Given the description of an element on the screen output the (x, y) to click on. 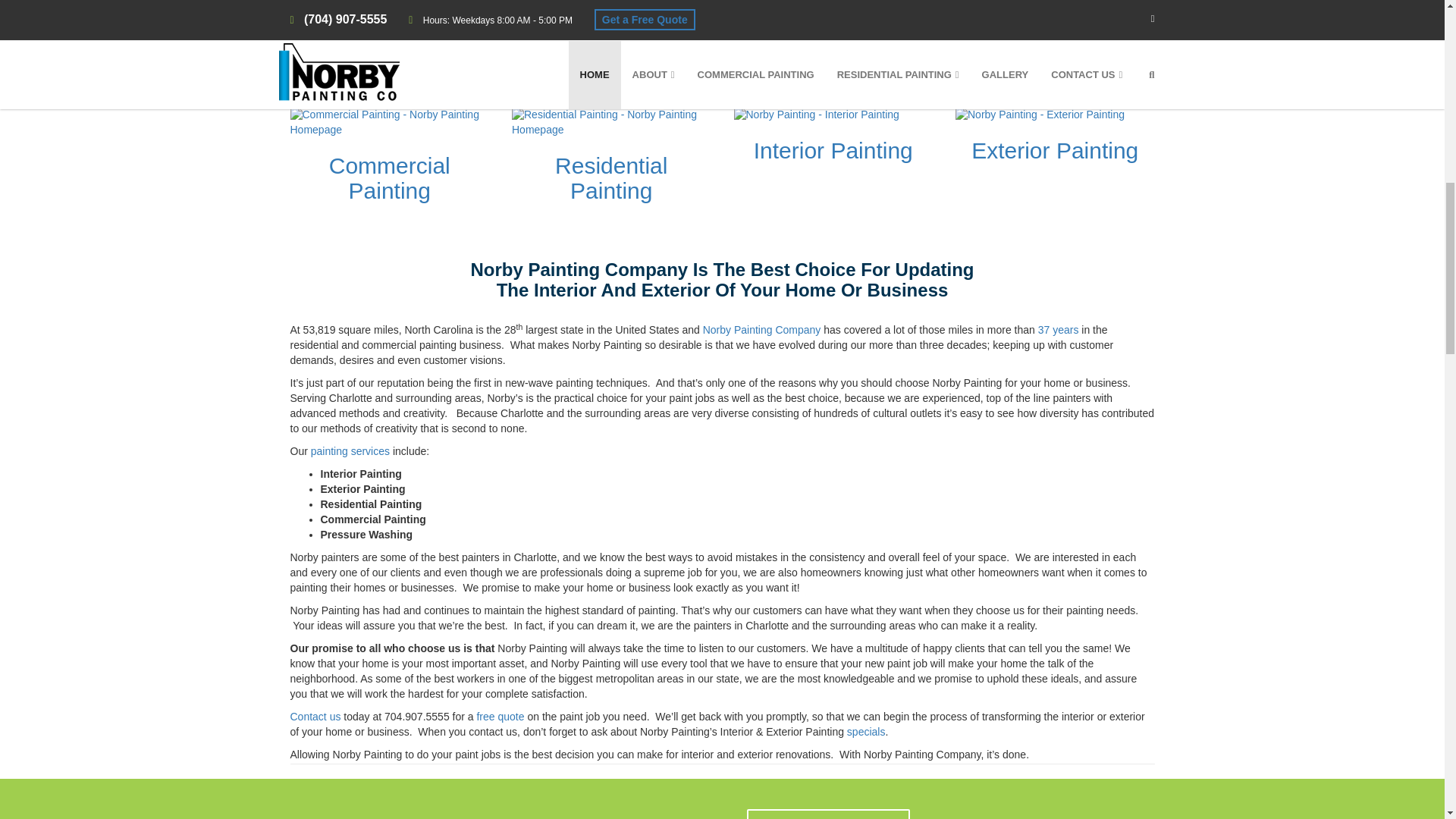
free quote (500, 716)
Norby Painting Company (762, 329)
painting services (350, 451)
Exterior Painting (1054, 150)
Commercial Painting (389, 178)
37 years (1058, 329)
GET A FREE QUOTE (929, 15)
Residential Painting (610, 178)
Contact us (314, 716)
Interior Painting (833, 150)
specials (866, 731)
